Given the description of an element on the screen output the (x, y) to click on. 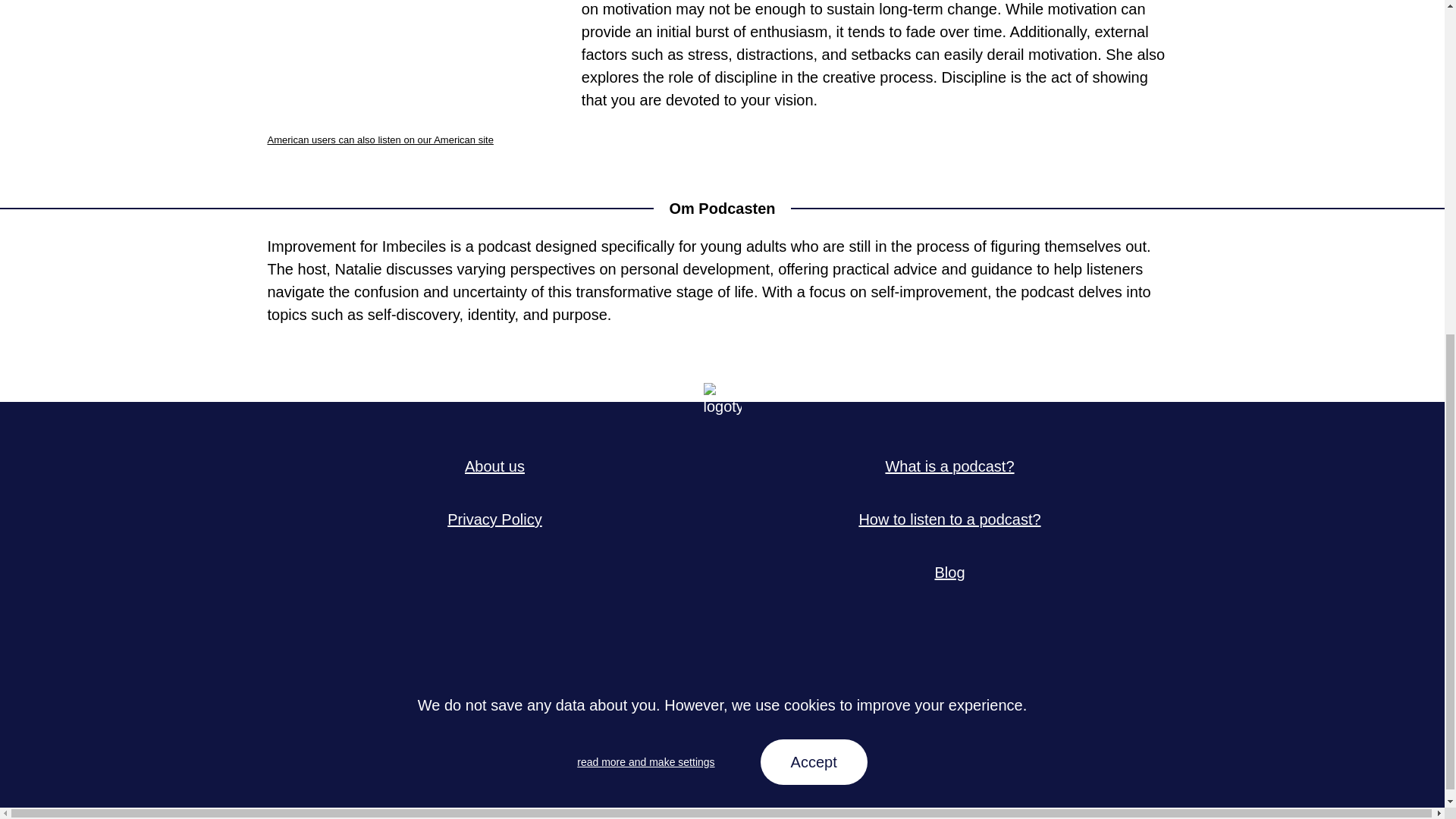
read more and make settings (645, 187)
American users can also listen on our American site (379, 139)
What is a podcast? (949, 466)
Blog (948, 572)
About us (494, 466)
Accept (813, 186)
Privacy Policy (494, 519)
How to listen to a podcast? (949, 519)
